Given the description of an element on the screen output the (x, y) to click on. 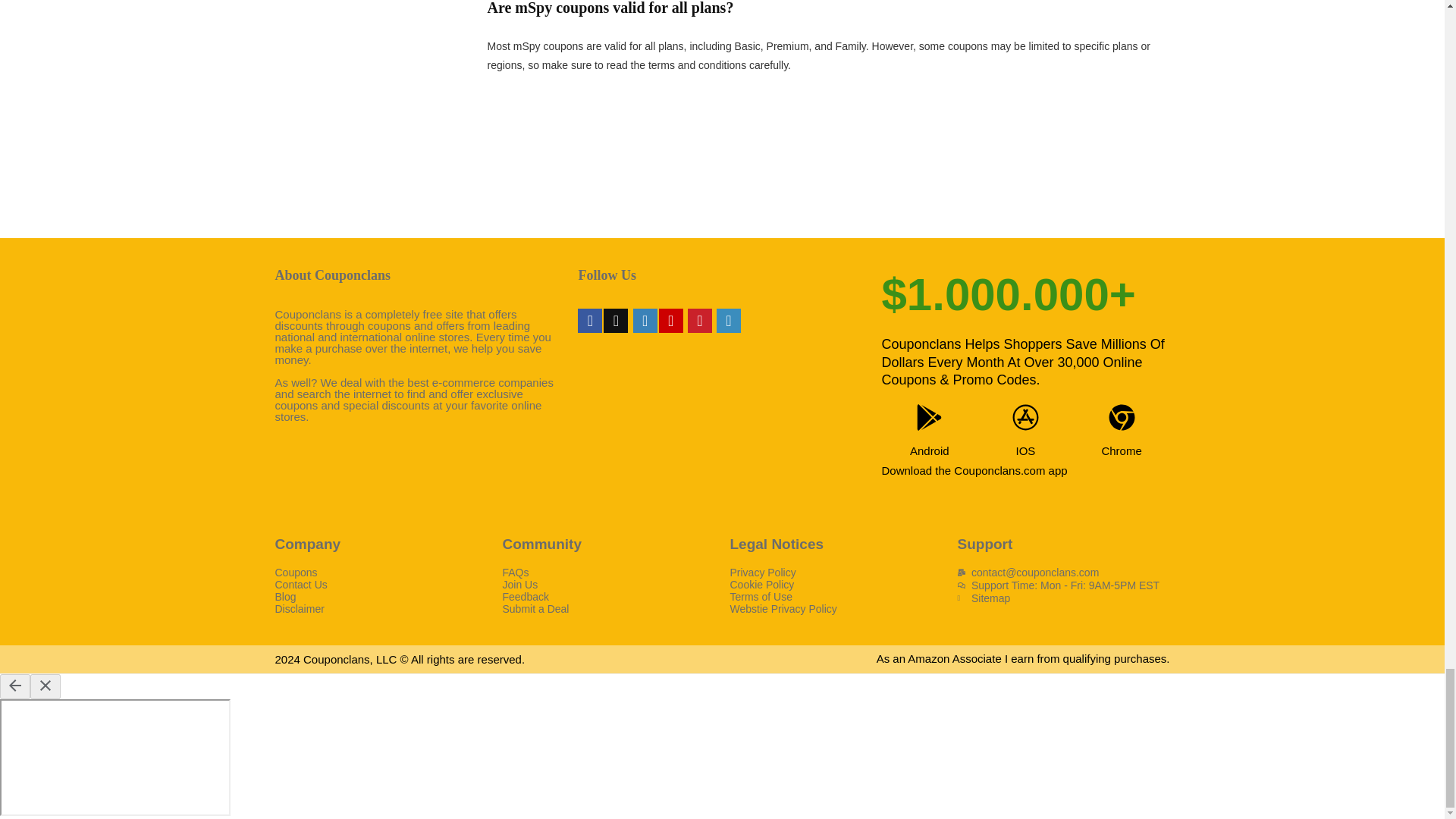
Android (929, 450)
twitter (615, 320)
Youtube (670, 320)
Instagramm (645, 320)
Facebook (590, 320)
Pinterest (699, 320)
